Given the description of an element on the screen output the (x, y) to click on. 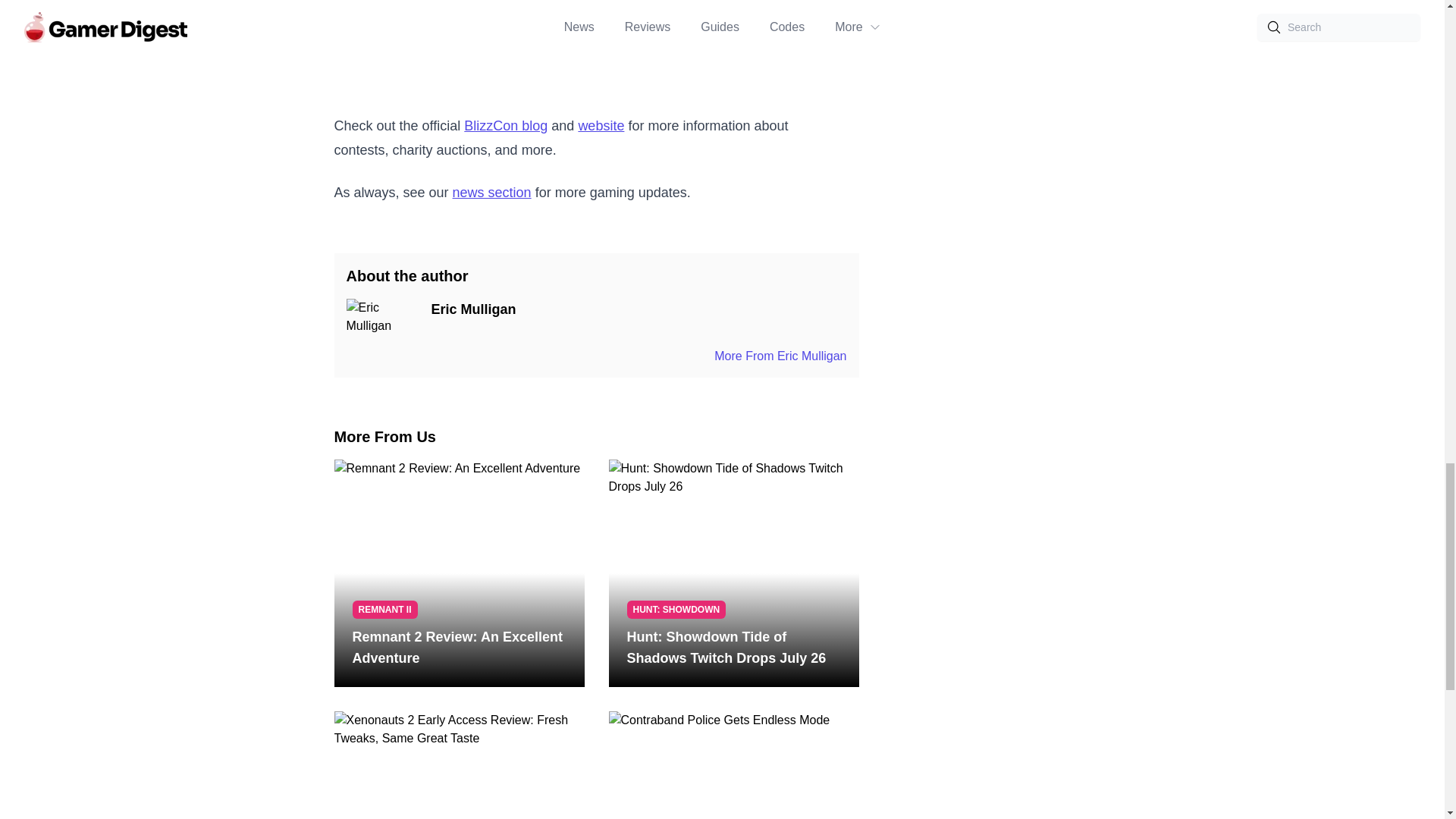
REMNANT II (384, 609)
Hunt: Showdown Tide of Shadows Twitch Drops July 26 (733, 647)
news section (491, 192)
HUNT: SHOWDOWN (675, 609)
BlizzCon blog (505, 125)
More From Eric Mulligan (779, 355)
website (601, 125)
Remnant 2 Review: An Excellent Adventure (459, 647)
